Given the description of an element on the screen output the (x, y) to click on. 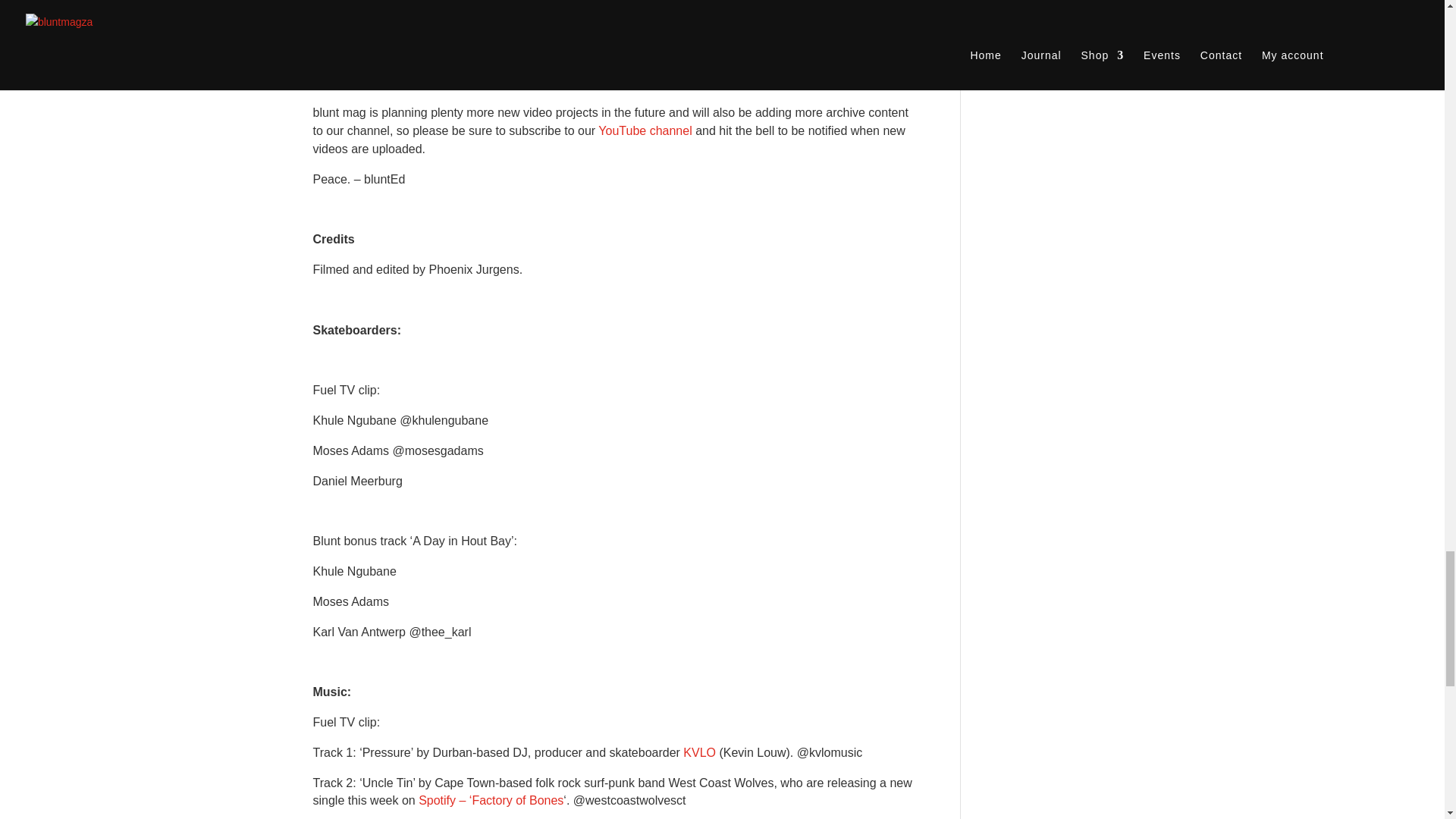
YouTube channel (646, 130)
KVLO (699, 752)
